Given the description of an element on the screen output the (x, y) to click on. 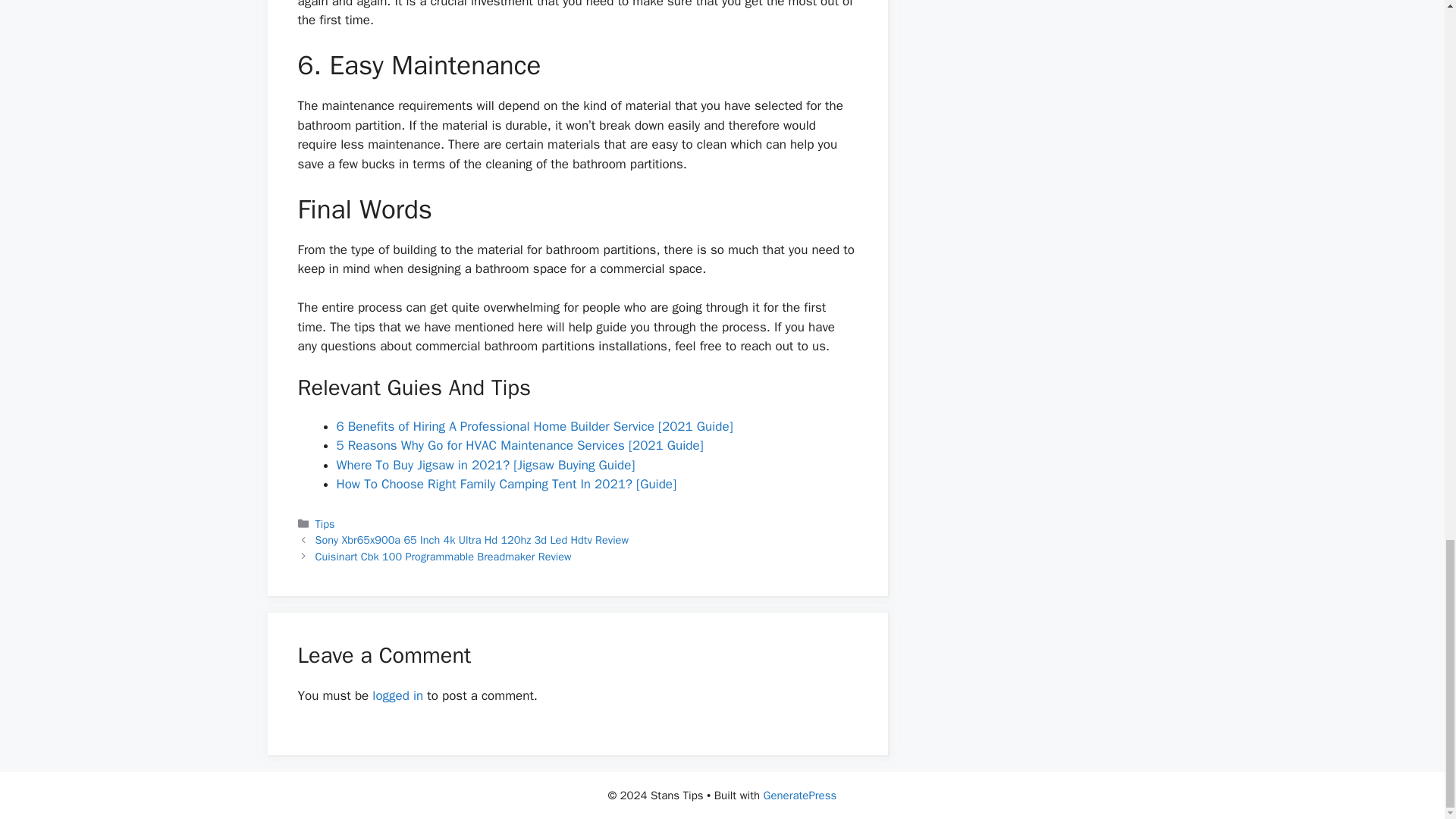
Sony Xbr65x900a 65 Inch 4k Ultra Hd 120hz 3d Led Hdtv Review (471, 540)
Tips (324, 523)
Cuisinart Cbk 100 Programmable Breadmaker Review (443, 556)
GeneratePress (799, 795)
logged in (397, 695)
